Given the description of an element on the screen output the (x, y) to click on. 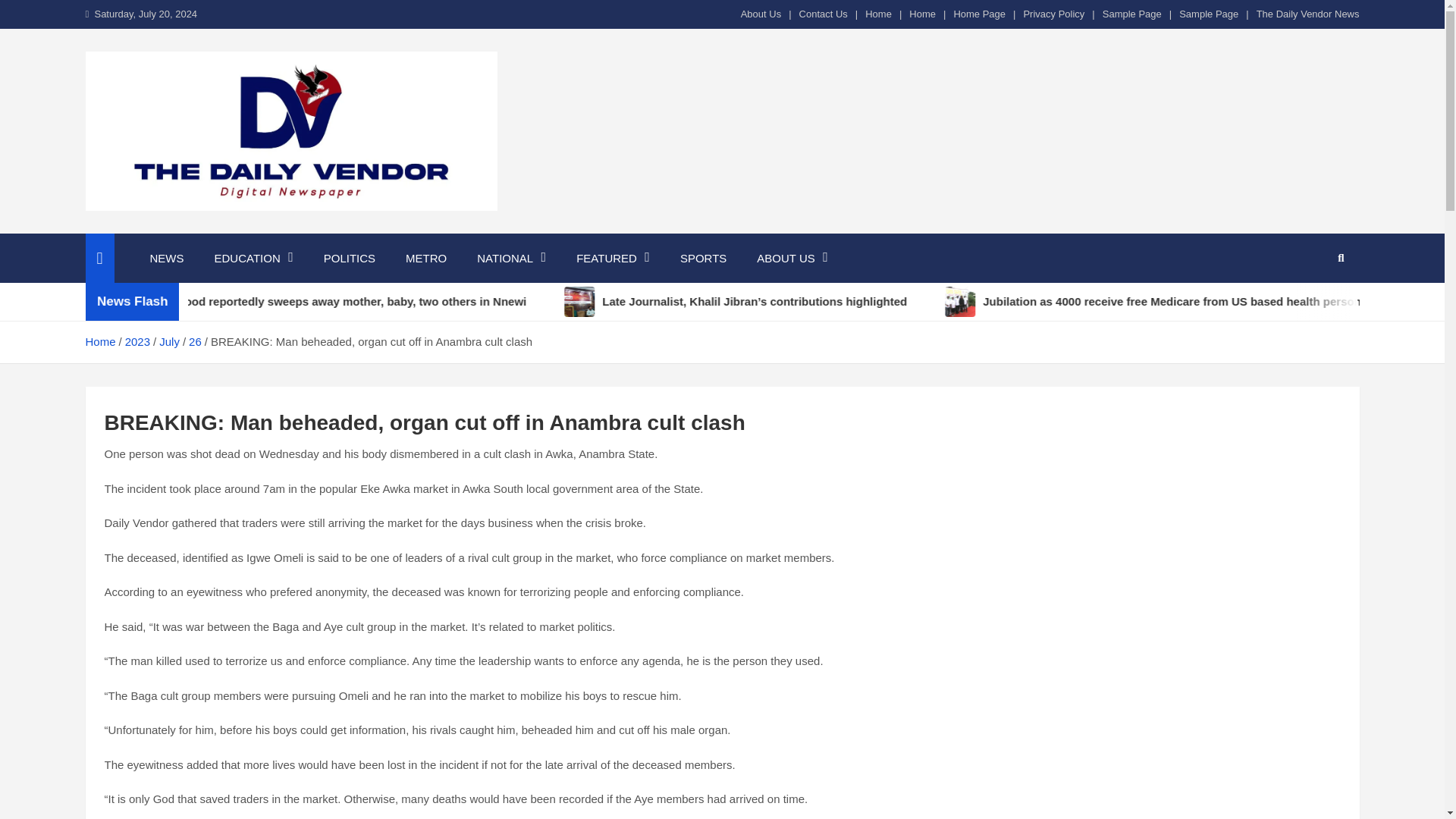
ABOUT US (792, 258)
NATIONAL (510, 258)
About Us (760, 13)
Home (922, 13)
Contact Us (823, 13)
Privacy Policy (1053, 13)
METRO (425, 258)
SPORTS (703, 258)
Home Page (979, 13)
Sample Page (1209, 13)
The Daily Vendor (207, 230)
NEWS (167, 258)
Sample Page (1131, 13)
EDUCATION (252, 258)
